Given the description of an element on the screen output the (x, y) to click on. 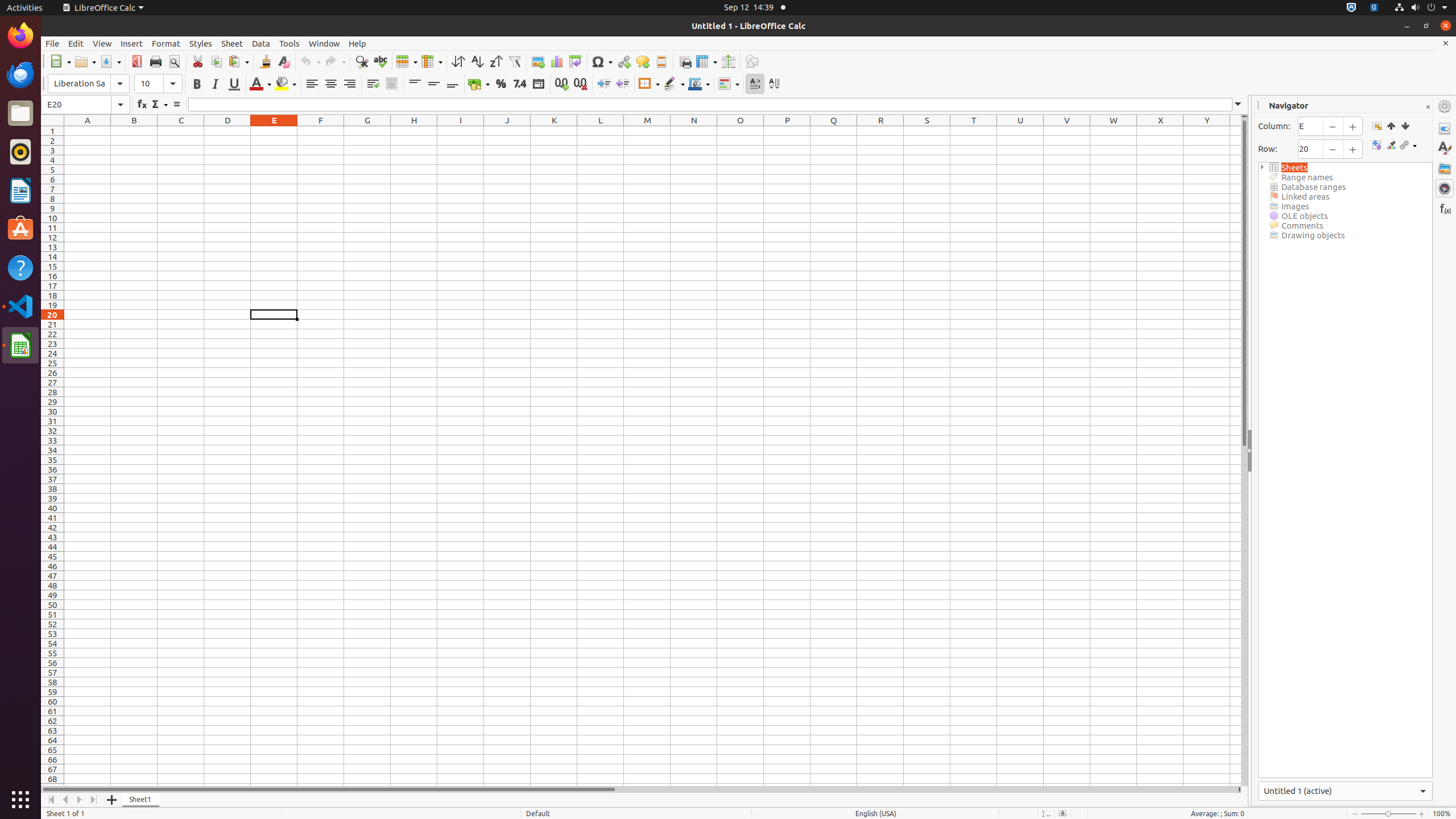
Text direction from left to right Element type: toggle-button (754, 83)
:1.21/StatusNotifierItem Element type: menu (1373, 7)
I1 Element type: table-cell (460, 130)
Formula Element type: push-button (176, 104)
V1 Element type: table-cell (1066, 130)
